Given the description of an element on the screen output the (x, y) to click on. 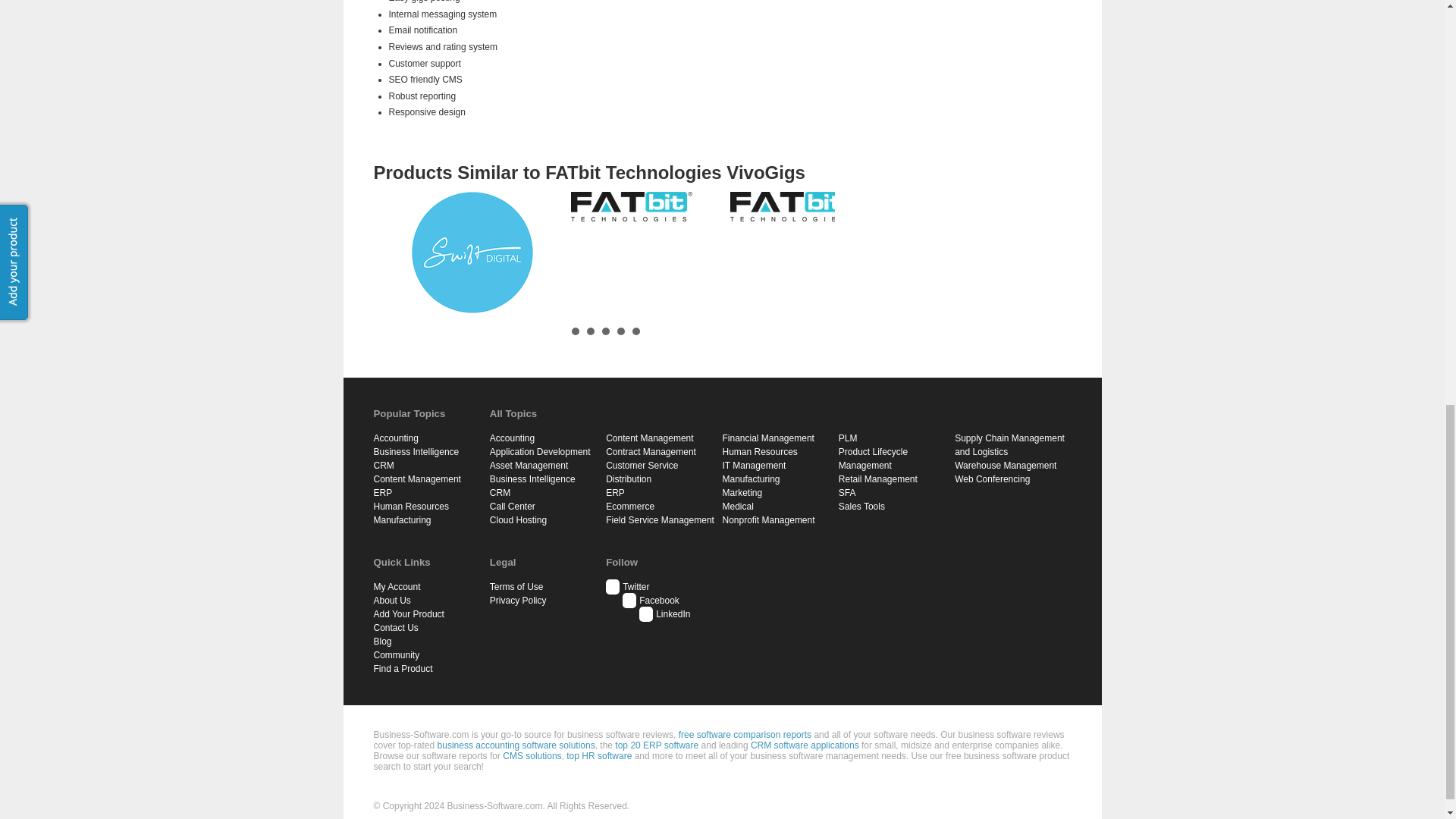
FATbit Technologies Growcer (790, 206)
Swift Digital Suite (472, 251)
FATbit Technologies Yo!Yumm (630, 206)
FATbit Technologies Growcer (789, 206)
FATbit Technologies Yo!Yumm (631, 206)
Swift Digital Suite (471, 251)
